Given the description of an element on the screen output the (x, y) to click on. 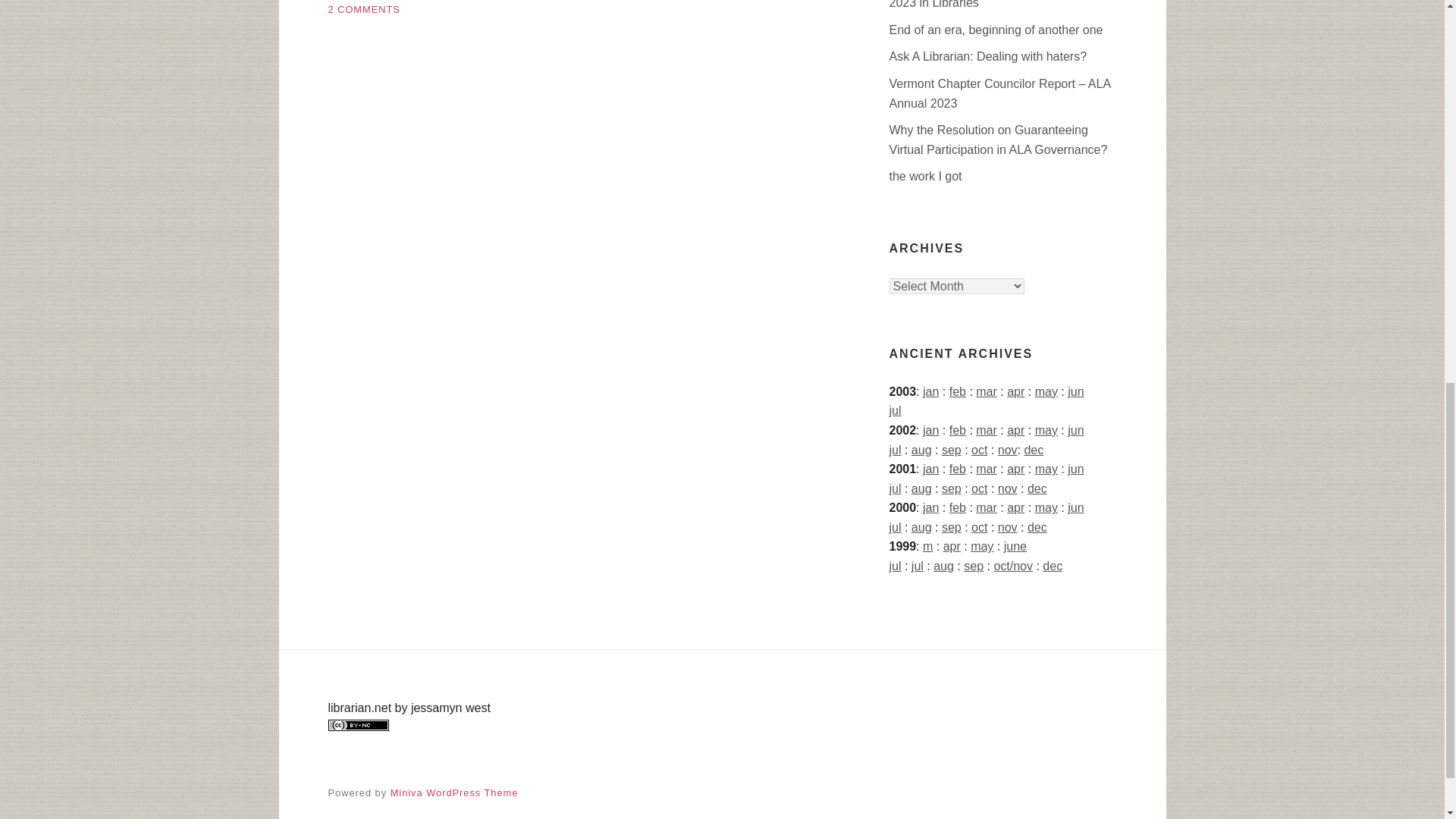
End of an era, beginning of another one (995, 29)
jan (931, 391)
the work I got (924, 175)
Ask A Librarian: Dealing with haters? (987, 56)
mar (986, 391)
feb (957, 391)
2023 in Libraries (933, 4)
